Given the description of an element on the screen output the (x, y) to click on. 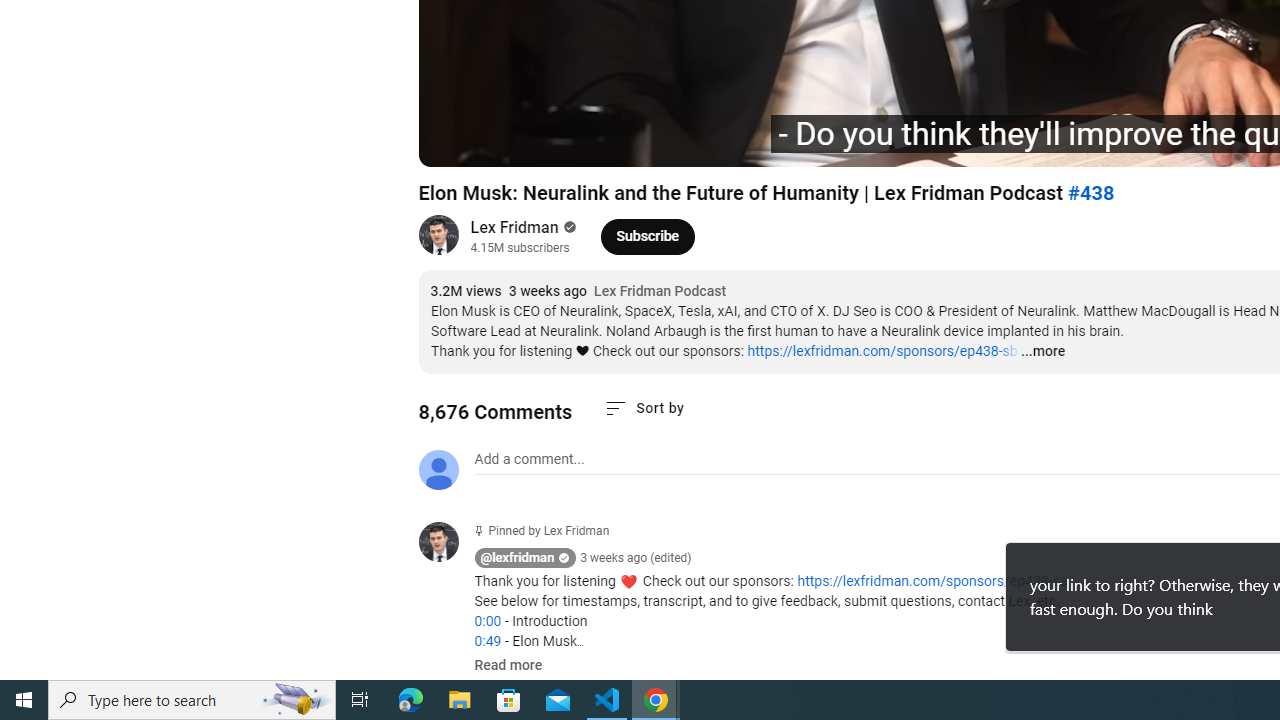
Telepathy (706, 142)
0:49 (487, 641)
Read more (507, 665)
#438 (1090, 193)
https://lexfridman.com/sponsors/ep438-sb (882, 351)
Lex Fridman Podcast (660, 291)
Next (SHIFT+n) (500, 142)
Subscribe to Lex Fridman. (648, 236)
